Given the description of an element on the screen output the (x, y) to click on. 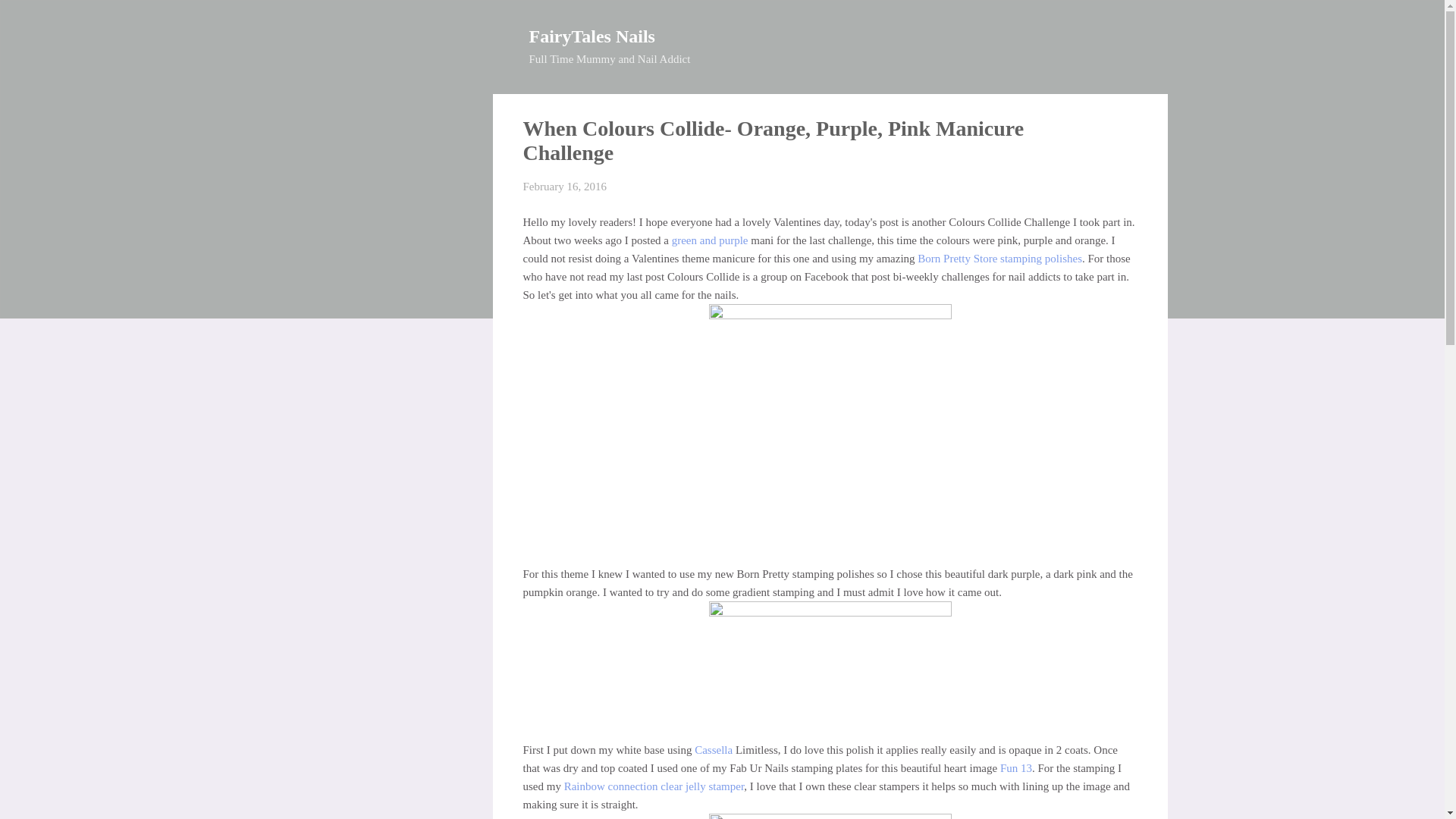
Search (29, 18)
February 16, 2016 (564, 186)
Born Pretty Store stamping polishes (999, 257)
 Fun 13 (1014, 767)
Cassella (713, 748)
Rainbow connection clear jelly stamper (654, 785)
permanent link (564, 186)
green and purple (709, 239)
FairyTales Nails (592, 35)
